Given the description of an element on the screen output the (x, y) to click on. 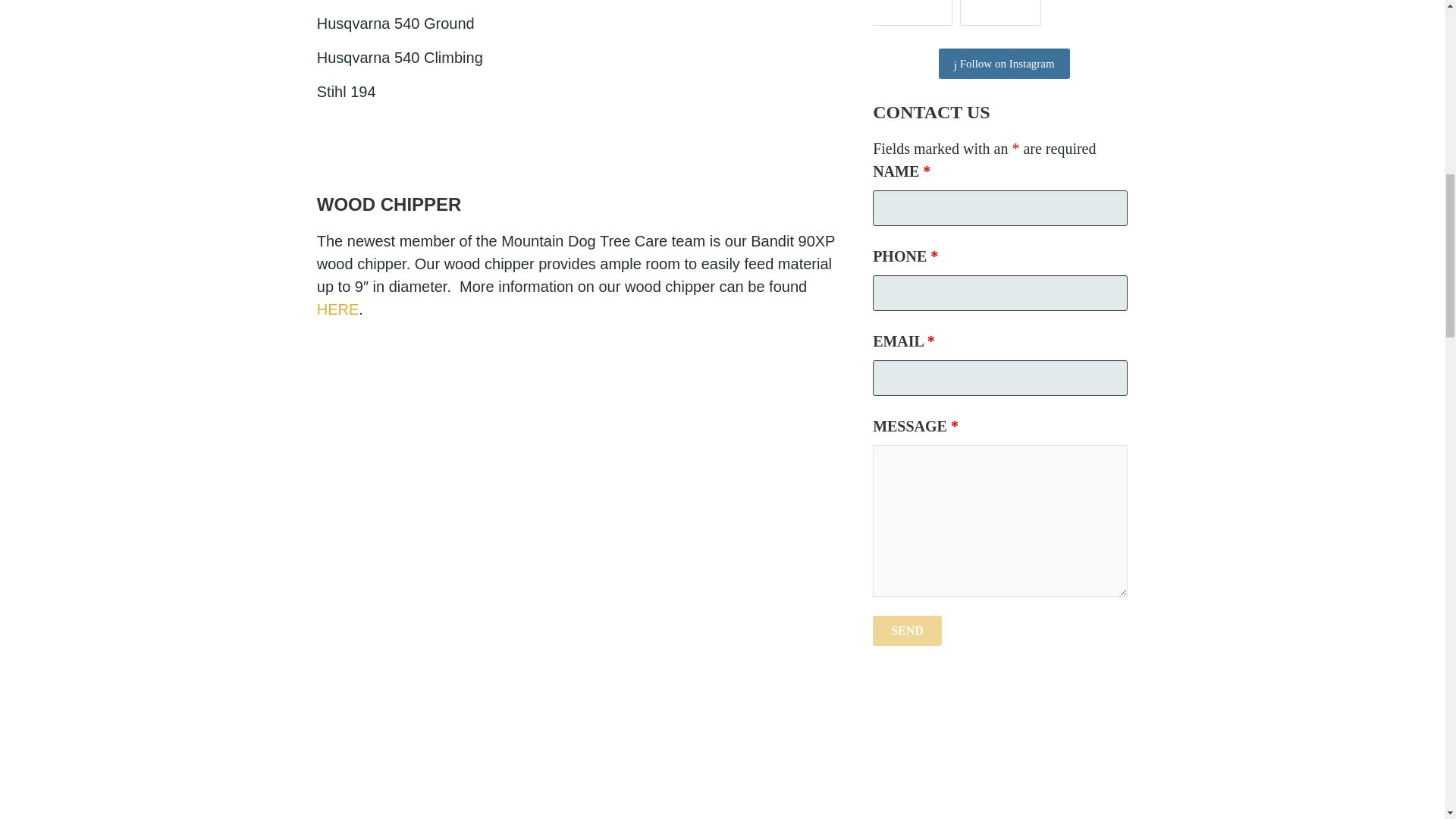
Send (907, 630)
Follow on Instagram (1004, 63)
HERE (338, 309)
Send (907, 630)
